Given the description of an element on the screen output the (x, y) to click on. 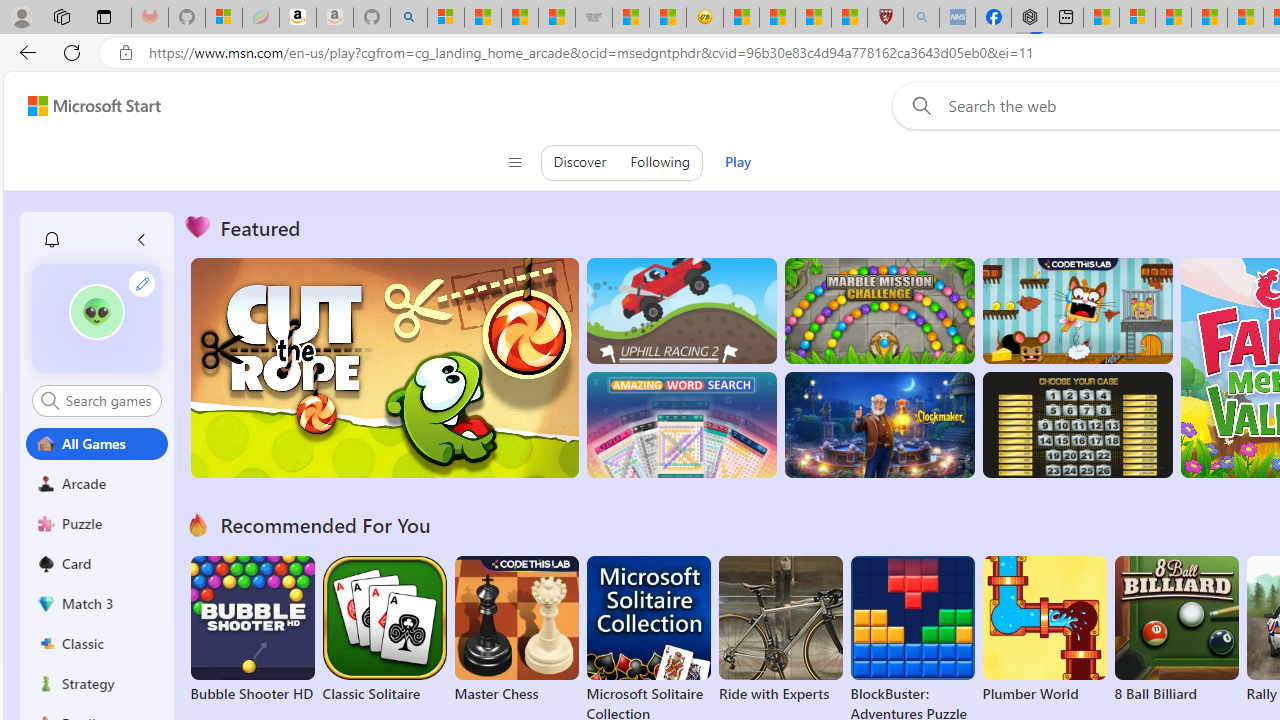
Cut the Rope (383, 367)
